Given the description of an element on the screen output the (x, y) to click on. 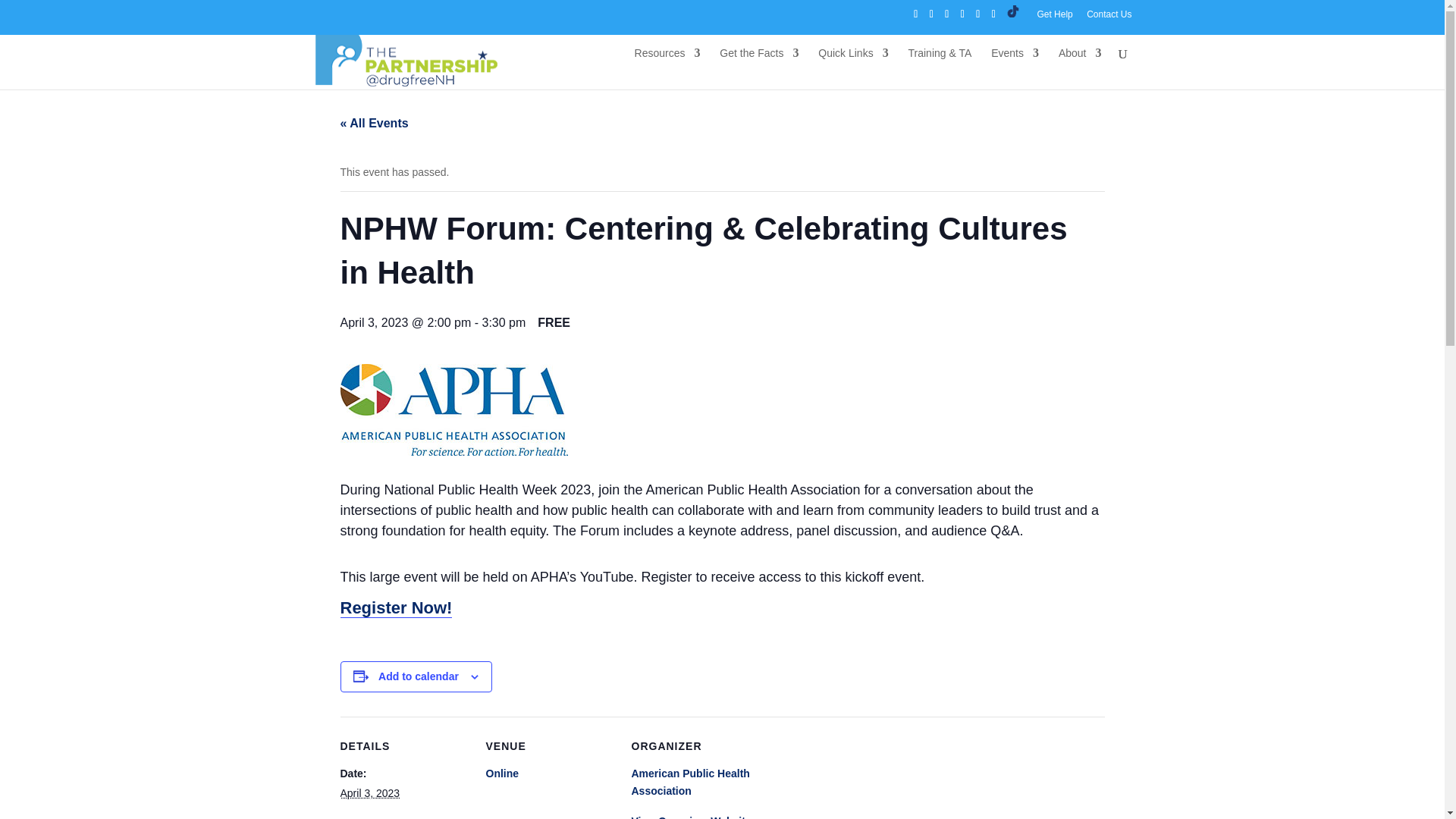
2023-04-03 (368, 793)
Quick Links (853, 65)
Get Help (1053, 17)
American Public Health Association (689, 782)
Get the Facts (758, 65)
Contact Us (1108, 17)
Resources (667, 65)
